Given the description of an element on the screen output the (x, y) to click on. 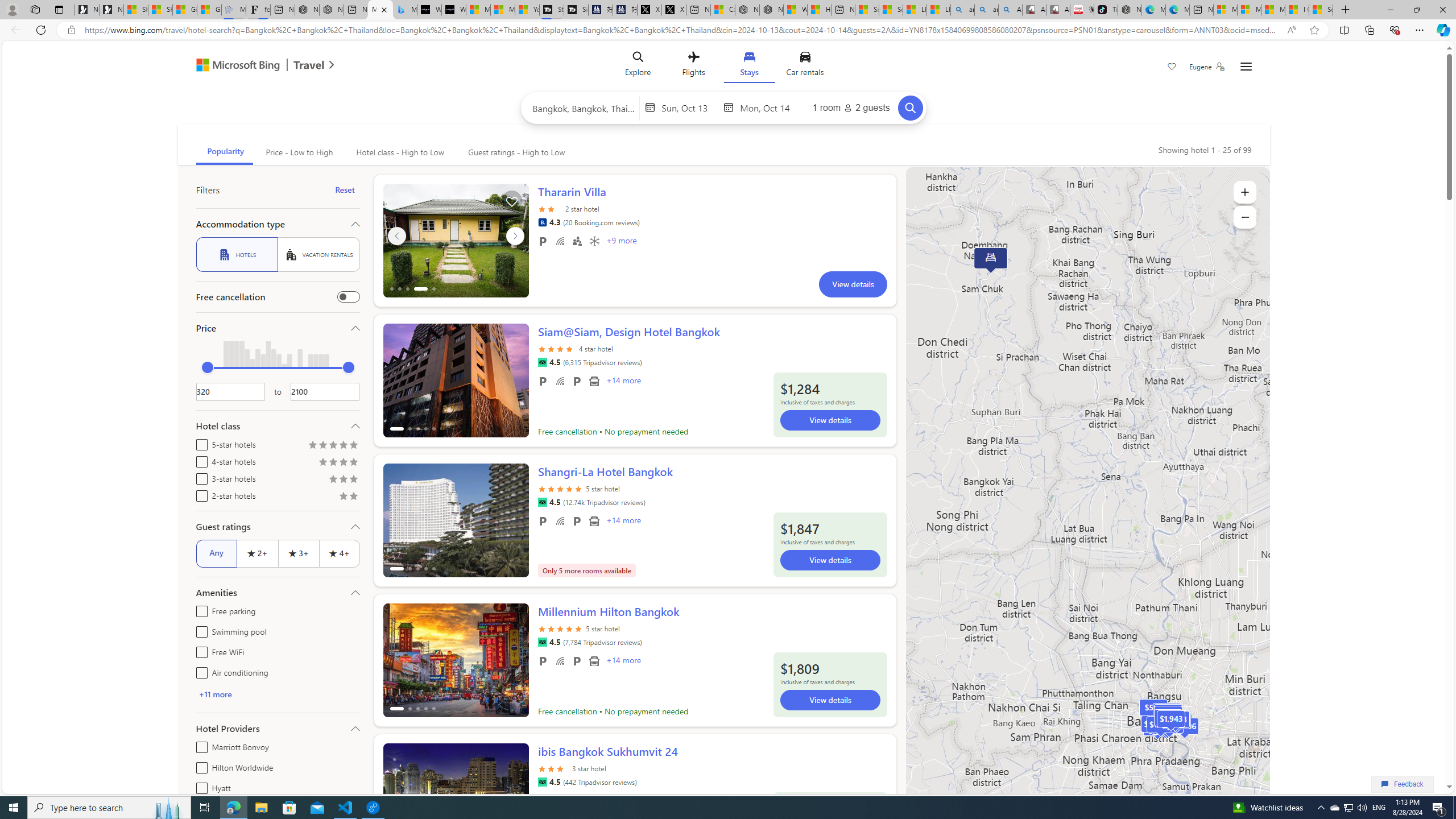
Settings (1245, 67)
+9 More Amenities (621, 241)
Back (13, 29)
2-star hotels (199, 493)
Save (1171, 67)
Free parking (542, 660)
Reset (344, 189)
Microsoft Bing Travel (253, 65)
amazon - Search (962, 9)
Microsoft Start (1273, 9)
4-star hotels (199, 459)
